Given the description of an element on the screen output the (x, y) to click on. 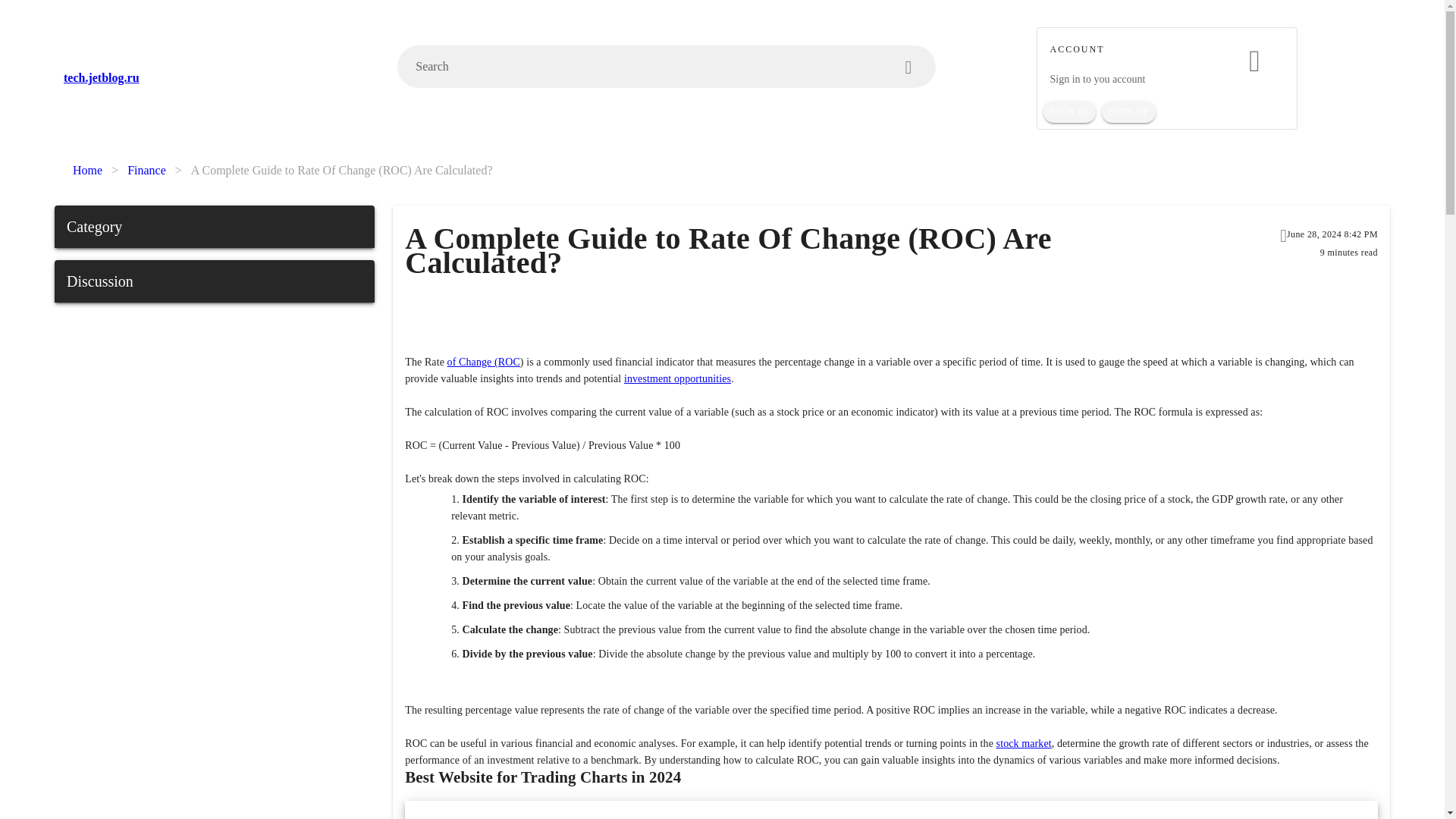
Finance (146, 170)
SIGN IN (1068, 111)
investment opportunities (677, 378)
SIGN UP (1129, 111)
Home (86, 170)
stock market (1023, 743)
tech.jetblog.ru (221, 77)
